Given the description of an element on the screen output the (x, y) to click on. 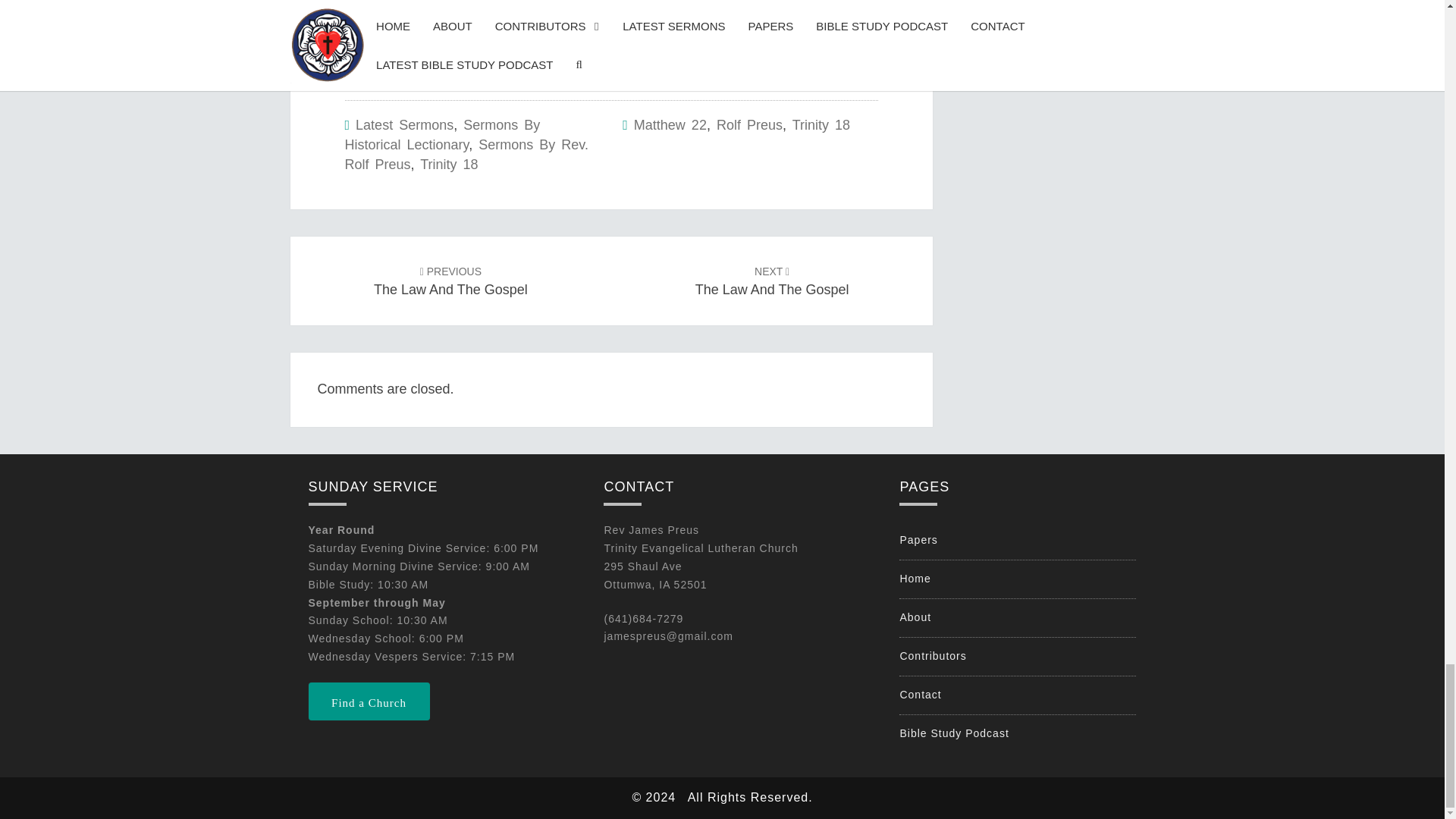
Sermons By Historical Lectionary (441, 134)
Latest Sermons (403, 124)
Sermons By Rev. Rolf Preus (465, 154)
Trinity 18 (448, 164)
Matthew 22 (669, 124)
Rolf Preus (749, 124)
Trinity 18 (450, 280)
